Given the description of an element on the screen output the (x, y) to click on. 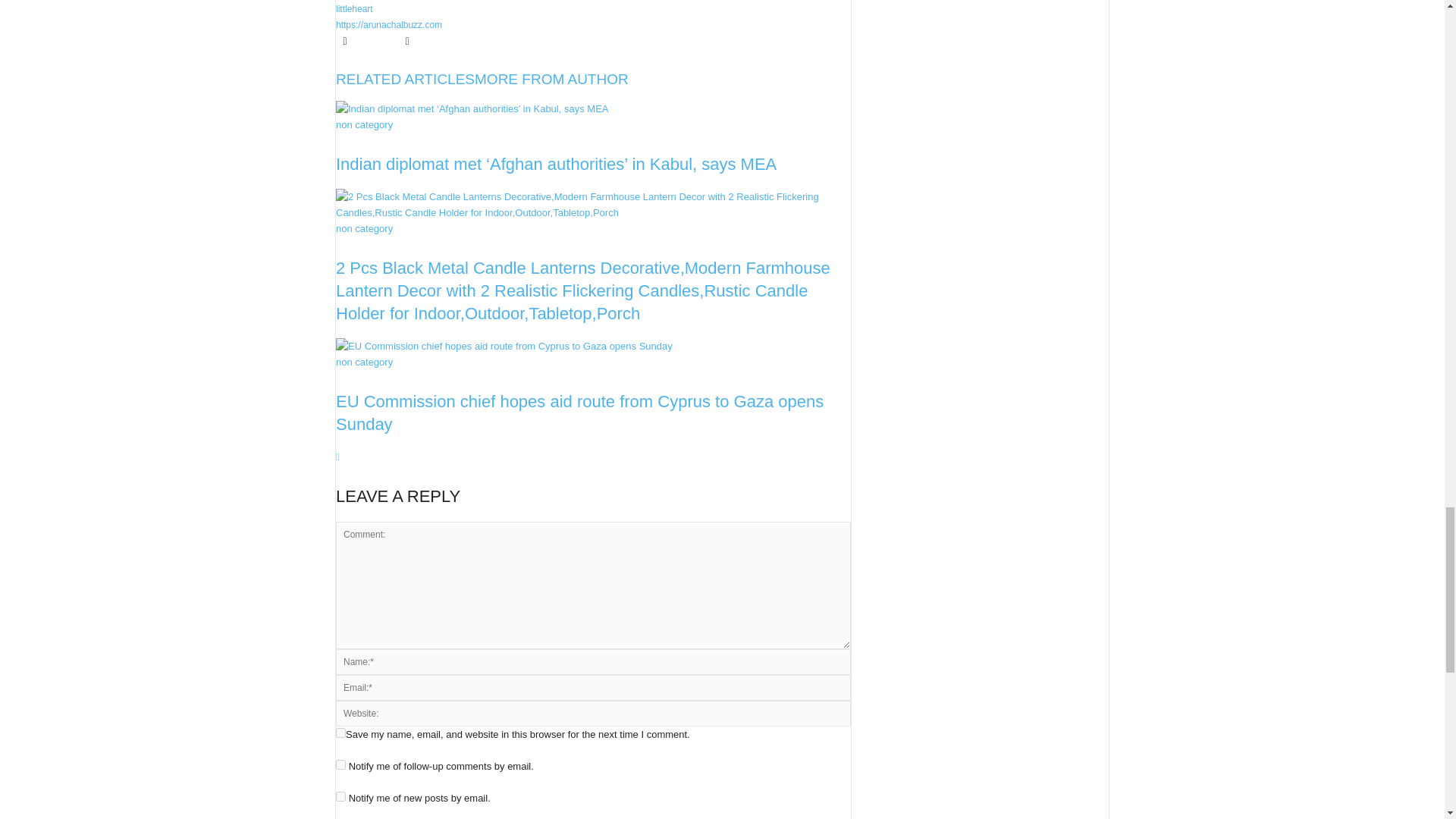
subscribe (341, 796)
yes (341, 732)
subscribe (341, 764)
